Given the description of an element on the screen output the (x, y) to click on. 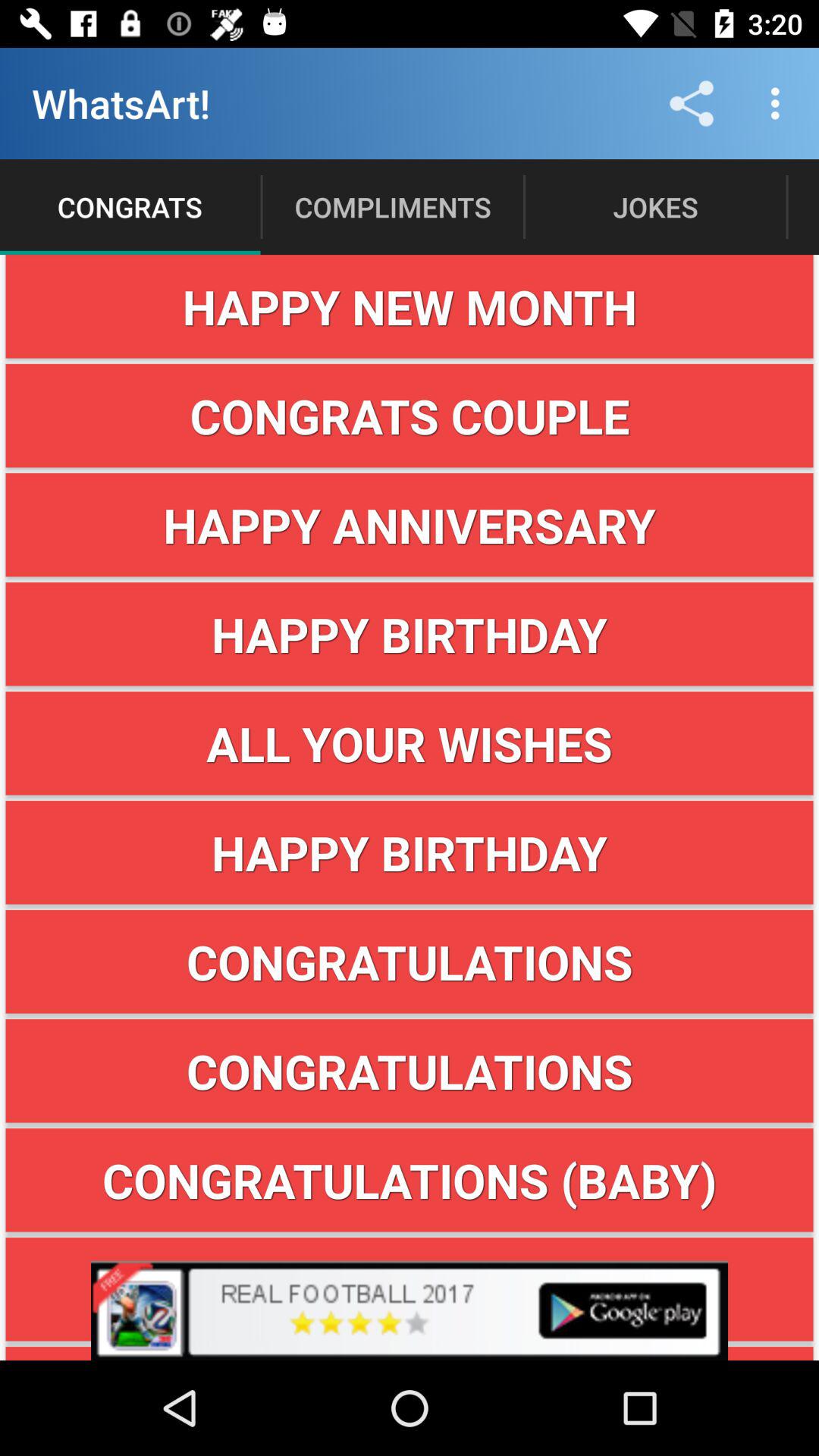
launch the congratulations (baby) item (409, 1179)
